Given the description of an element on the screen output the (x, y) to click on. 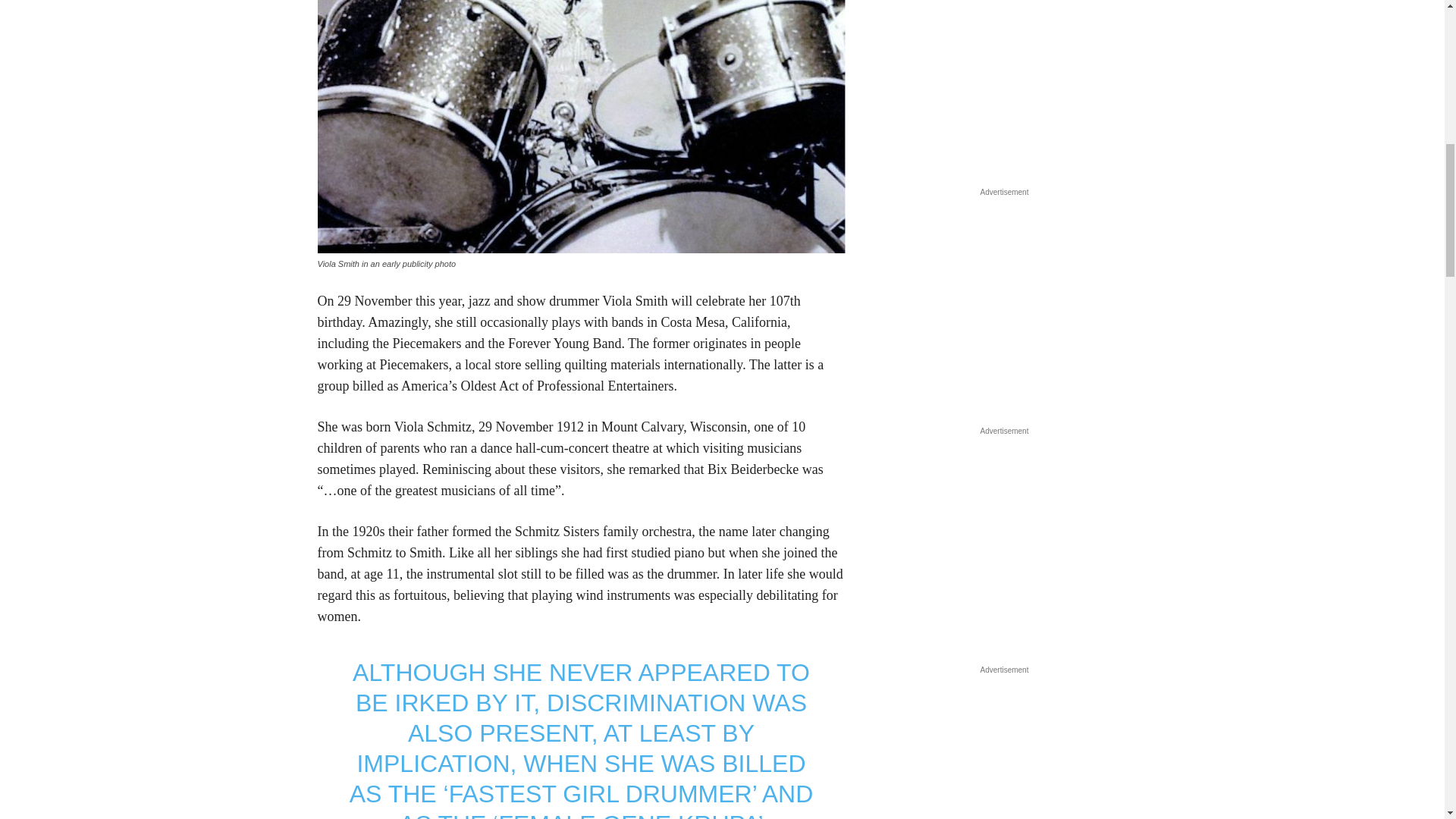
Viola Smith promo 2 1024 (580, 126)
